Given the description of an element on the screen output the (x, y) to click on. 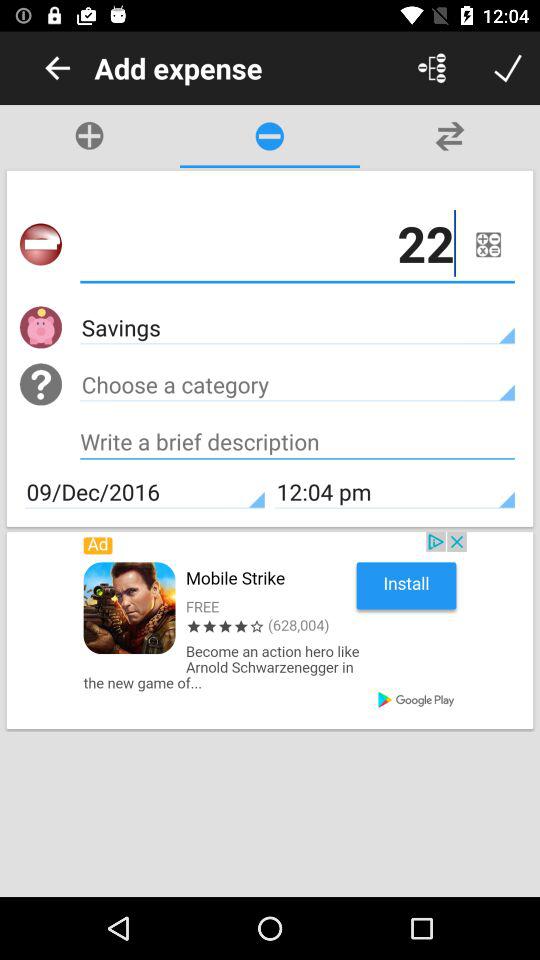
menu button (488, 244)
